Given the description of an element on the screen output the (x, y) to click on. 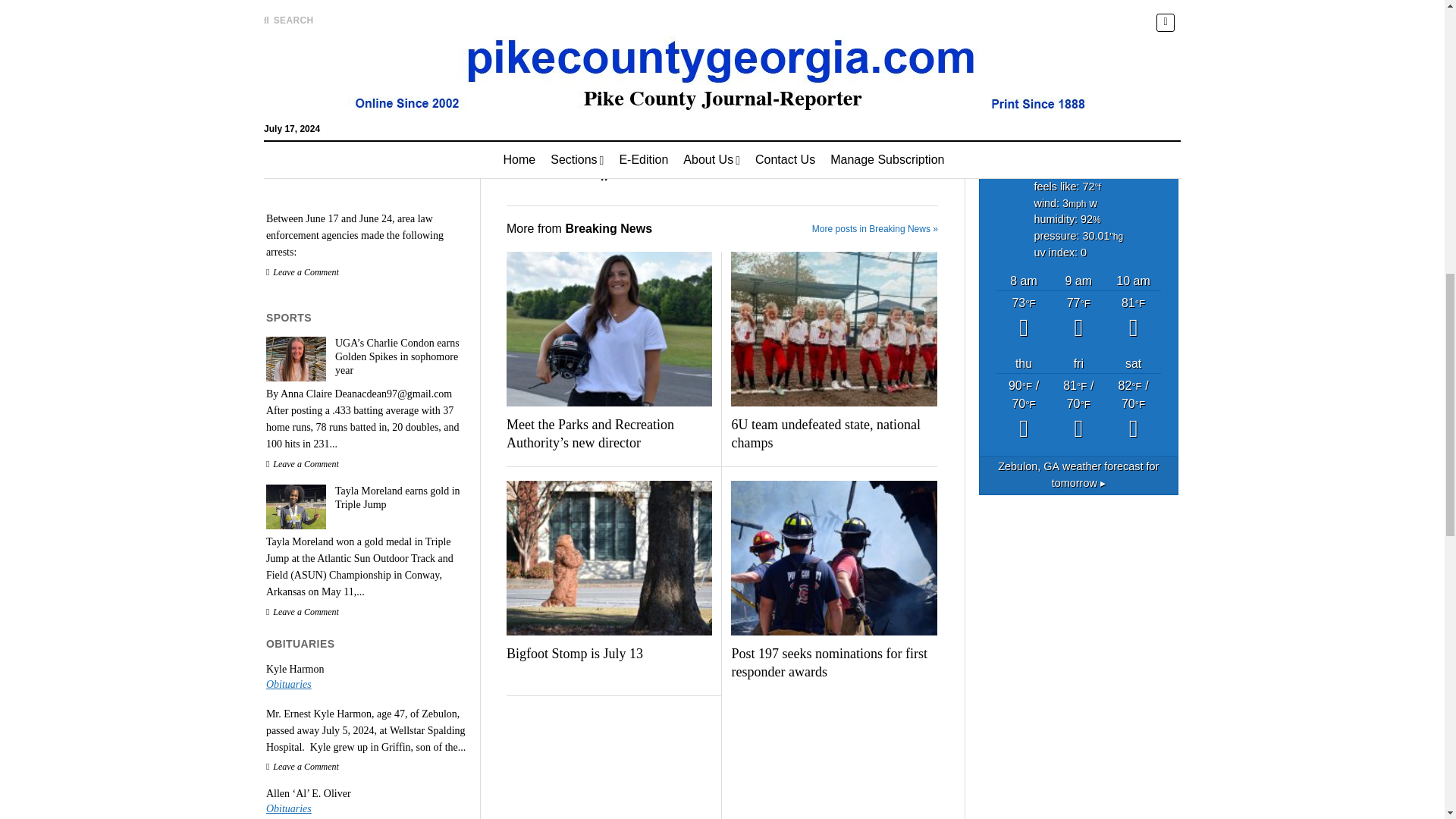
Mostly Sunny (1023, 318)
View all posts in Breaking News (606, 122)
Arrest report (365, 37)
